Given the description of an element on the screen output the (x, y) to click on. 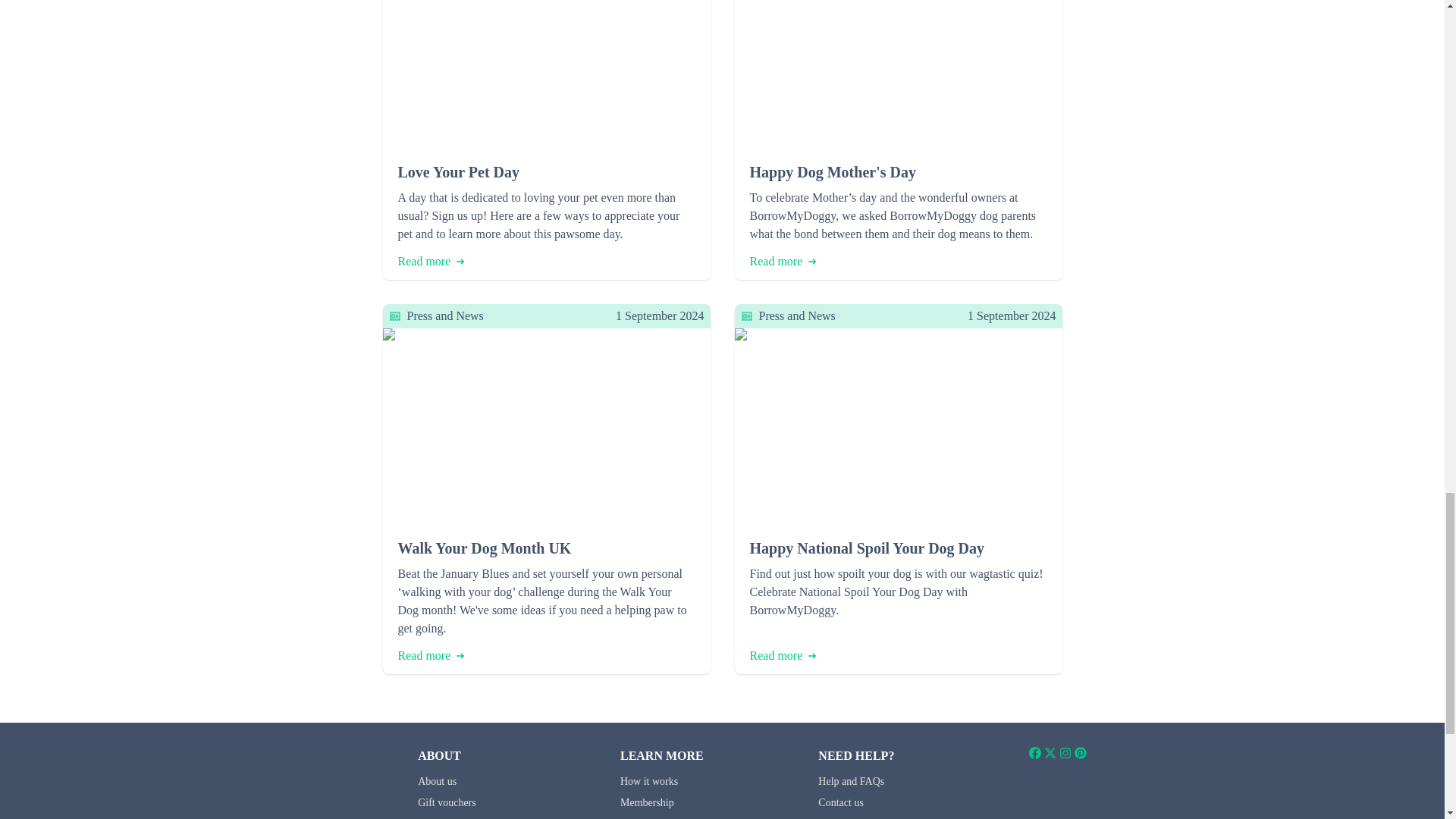
Walk Your Dog Month UK (545, 547)
Read more (782, 261)
Gift vouchers (446, 802)
Read more (782, 656)
Read more (430, 656)
Happy National Spoil Your Dog Day (897, 547)
About us (437, 781)
Love Your Pet Day (545, 171)
Read more (430, 261)
Happy Dog Mother's Day (897, 171)
